Given the description of an element on the screen output the (x, y) to click on. 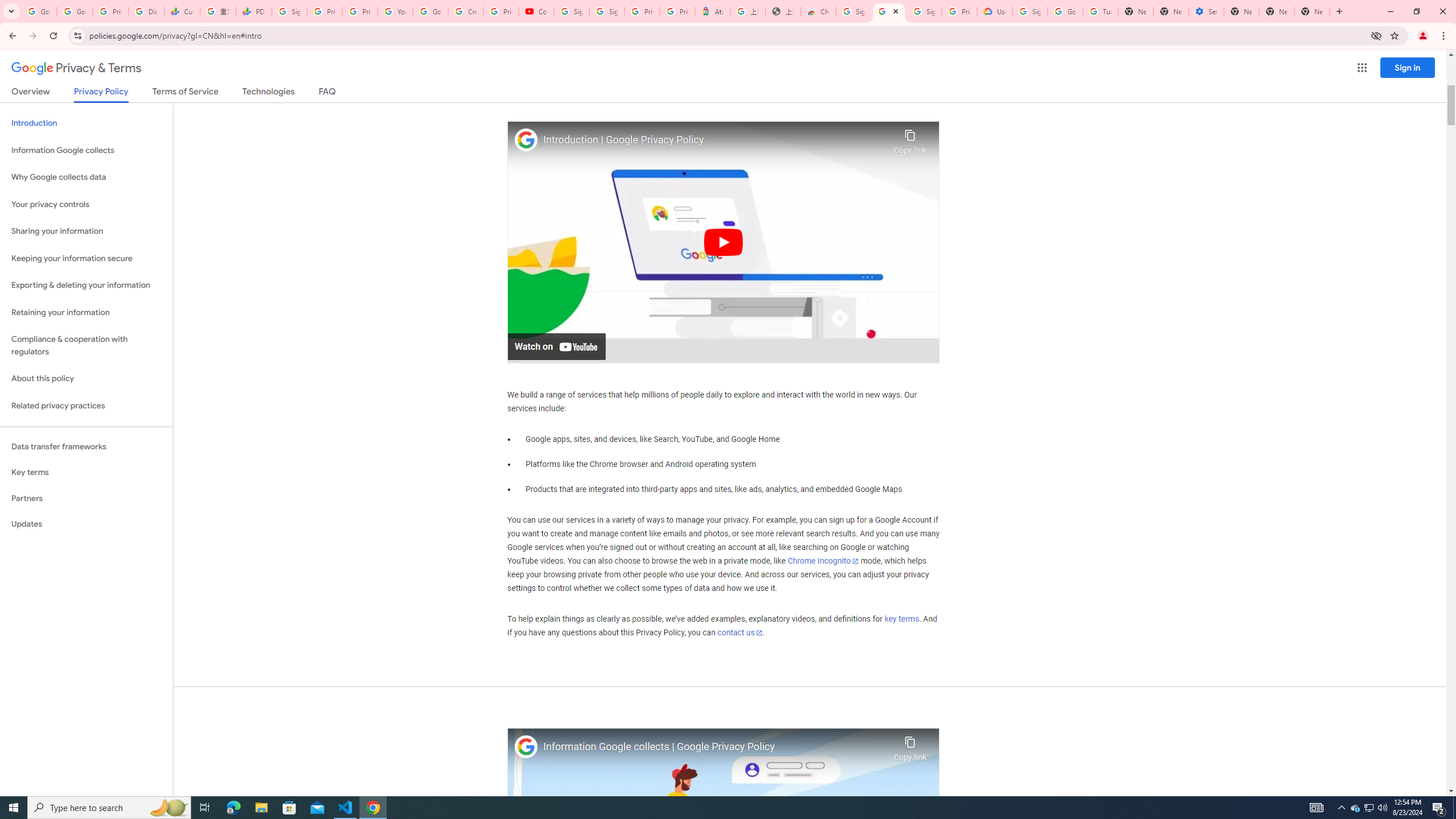
key terms (900, 619)
Your privacy controls (86, 204)
Photo image of Google (526, 746)
Updates (86, 524)
PDD Holdings Inc - ADR (PDD) Price & News - Google Finance (253, 11)
Google Account Help (429, 11)
contact us (739, 633)
Information Google collects (86, 150)
Technologies (268, 93)
Sharing your information (86, 230)
